Given the description of an element on the screen output the (x, y) to click on. 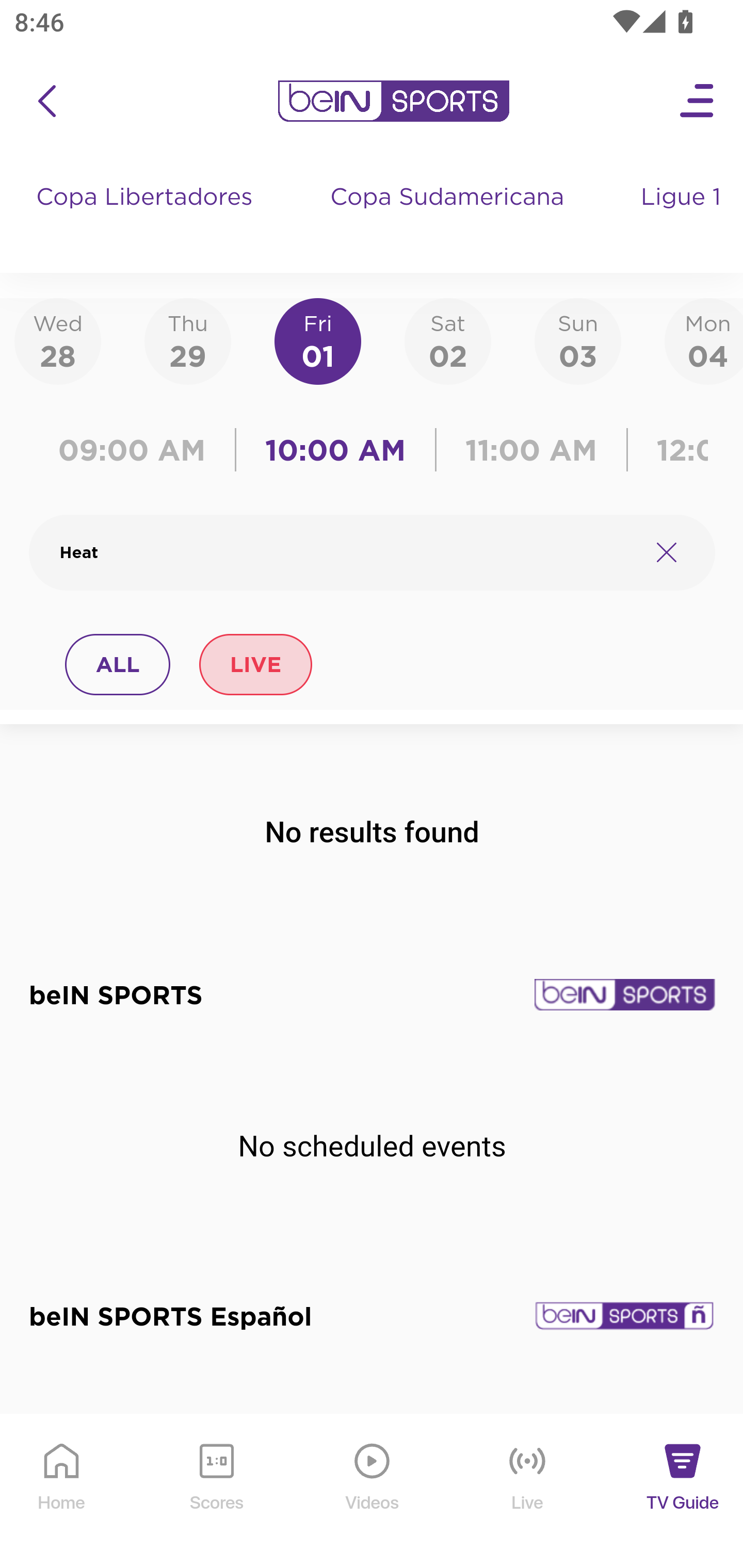
en-us?platform=mobile_android bein logo (392, 101)
icon back (46, 101)
Open Menu Icon (697, 101)
Copa Libertadores (146, 216)
Copa Sudamericana (448, 216)
Ligue 1 (682, 216)
Wed28 (58, 340)
Thu29 (187, 340)
Fri01 (318, 340)
Sat02 (447, 340)
Sun03 (578, 340)
Mon04 (703, 340)
09:00 AM (136, 449)
10:00 AM (335, 449)
11:00 AM (531, 449)
Heat (346, 552)
ALL (118, 663)
LIVE (255, 663)
Home Home Icon Home (61, 1491)
Scores Scores Icon Scores (216, 1491)
Videos Videos Icon Videos (372, 1491)
TV Guide TV Guide Icon TV Guide (682, 1491)
